Given the description of an element on the screen output the (x, y) to click on. 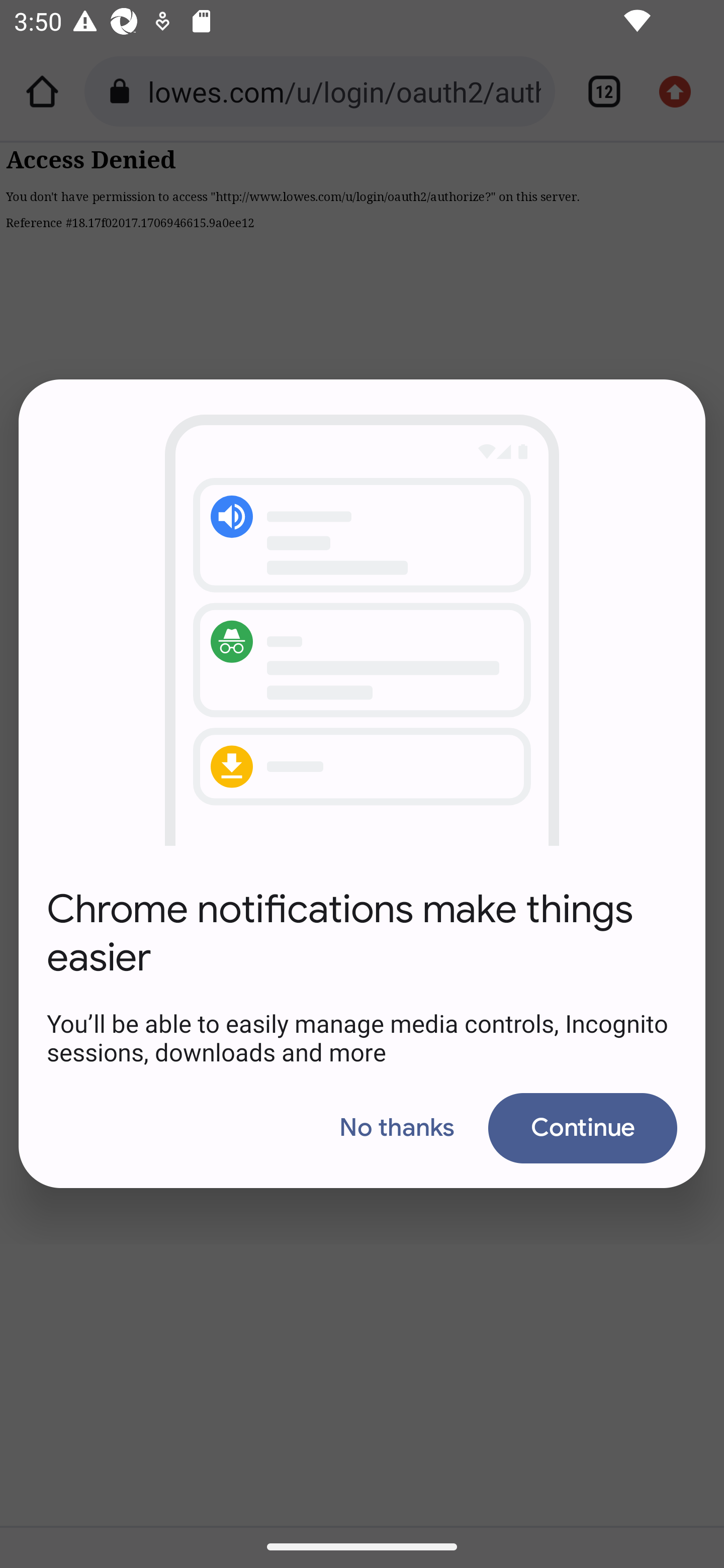
No thanks (396, 1127)
Continue (581, 1127)
